Given the description of an element on the screen output the (x, y) to click on. 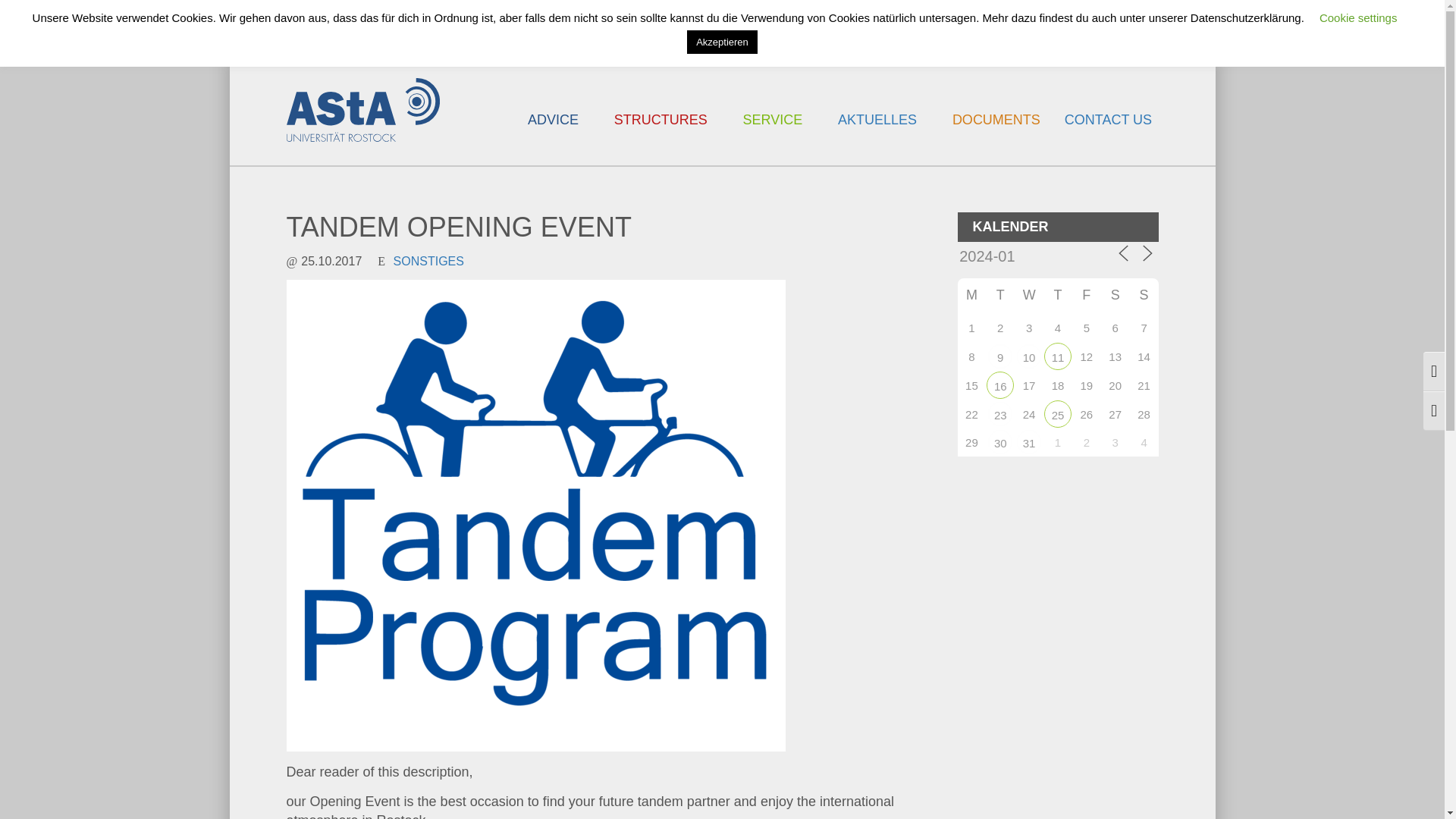
NEWS (989, 27)
STRUCTURES (660, 137)
2024-01 (1024, 256)
AKTUELLES (877, 137)
ADVICE (552, 137)
NATIONWIDE SEMESTER TICKET (595, 27)
DOCUMENTS (996, 137)
SERVICE (772, 137)
HOUSING SITUATION IN ROSTOCK (831, 27)
